Given the description of an element on the screen output the (x, y) to click on. 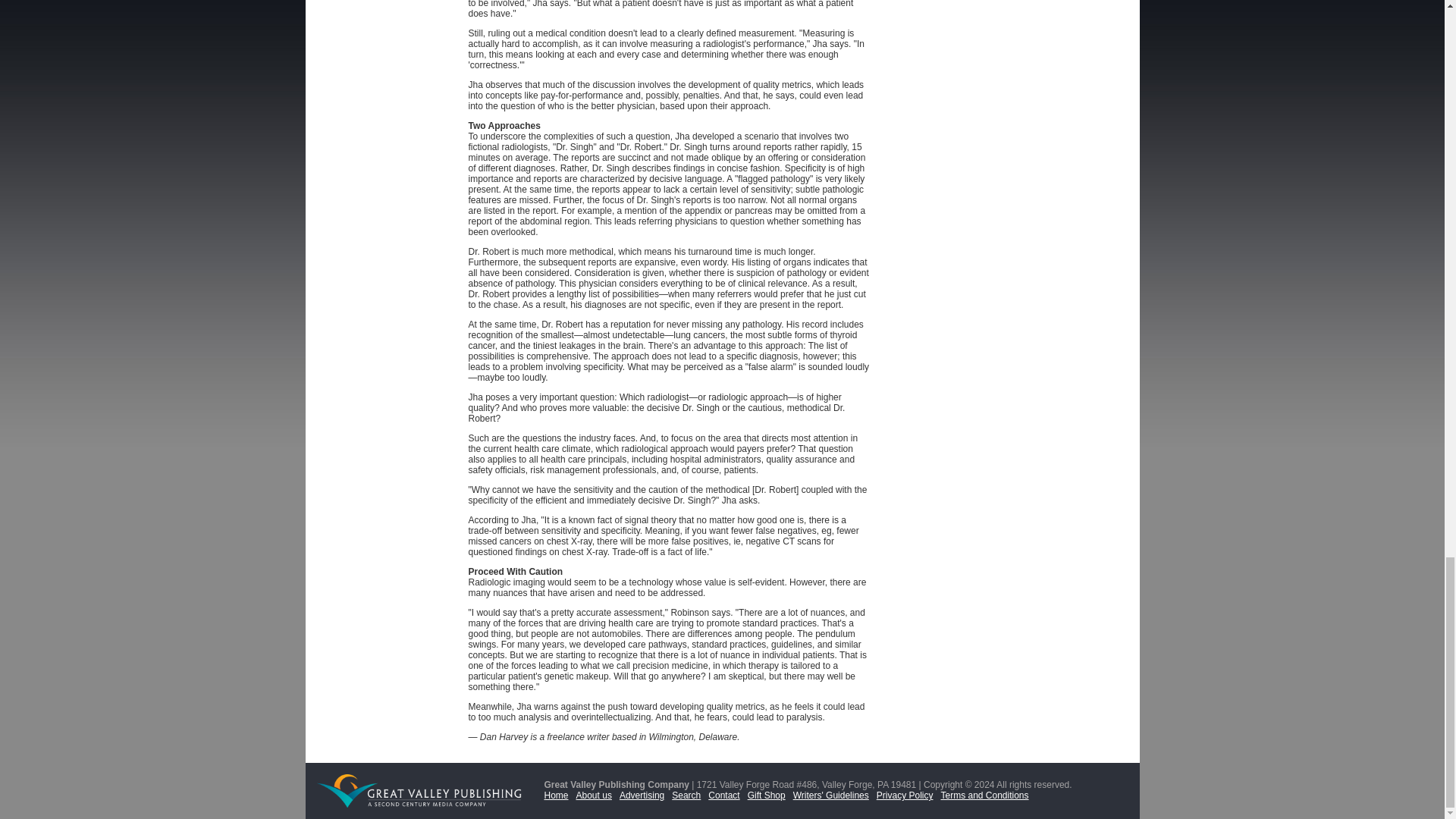
Advertising (645, 795)
About us (598, 795)
Home (560, 795)
